Given the description of an element on the screen output the (x, y) to click on. 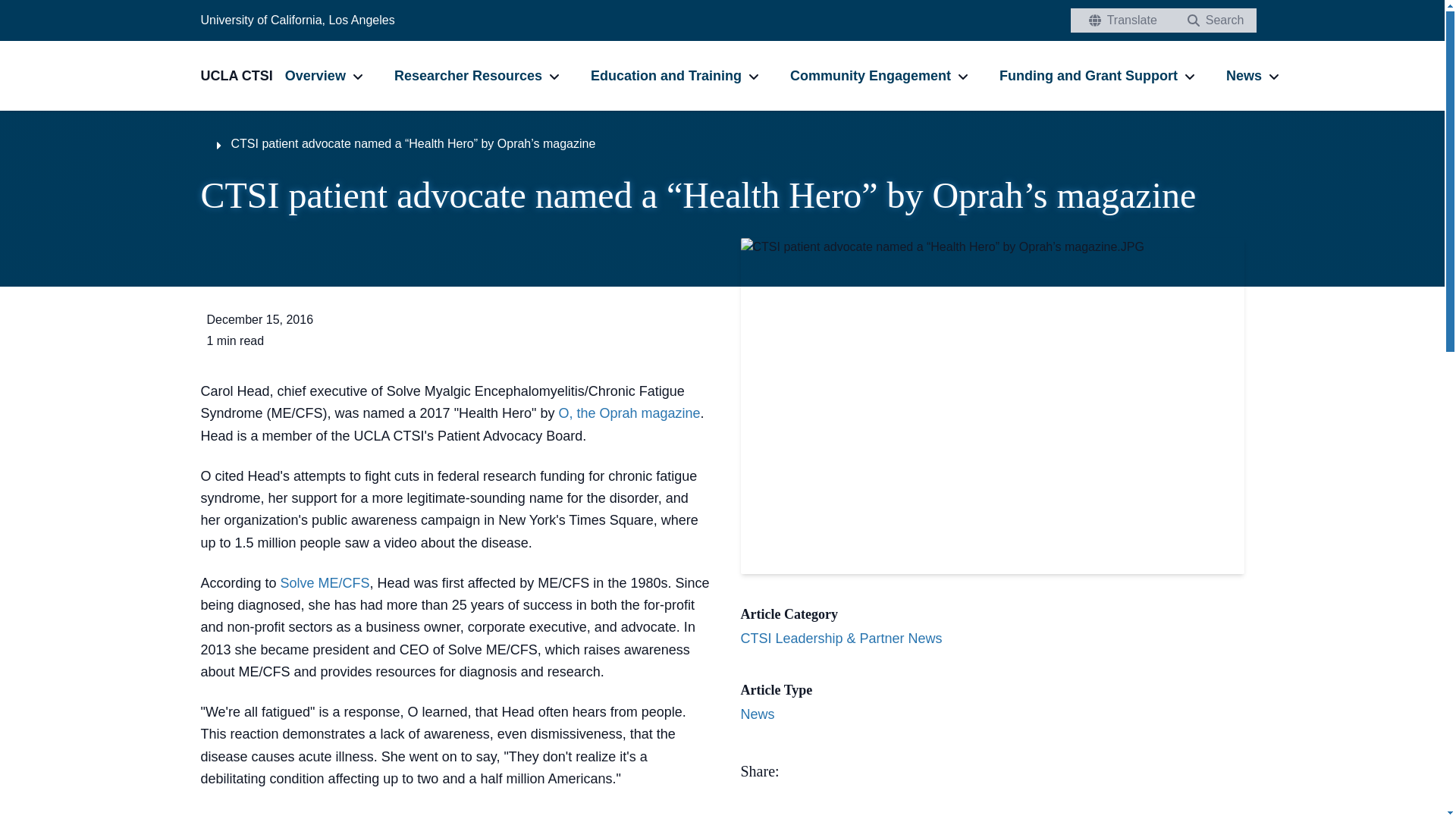
UCLA CTSI (241, 75)
Translate (1119, 20)
Search (1212, 20)
University of California, Los Angeles (296, 20)
Overview sub-navigation (357, 75)
